Given the description of an element on the screen output the (x, y) to click on. 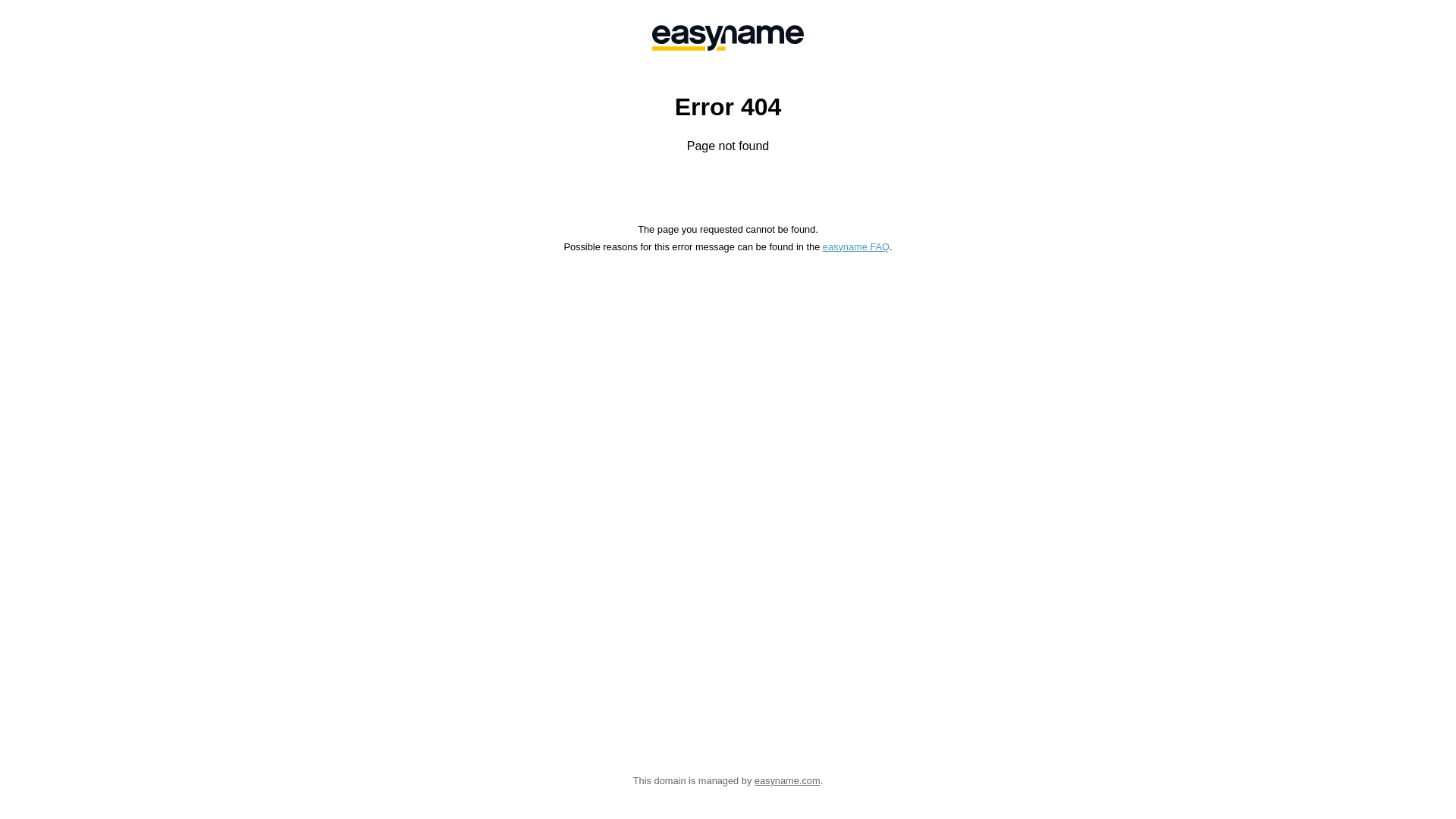
easyname FAQ Element type: text (855, 246)
easyname GmbH Element type: hover (727, 37)
easyname.com Element type: text (787, 780)
